Given the description of an element on the screen output the (x, y) to click on. 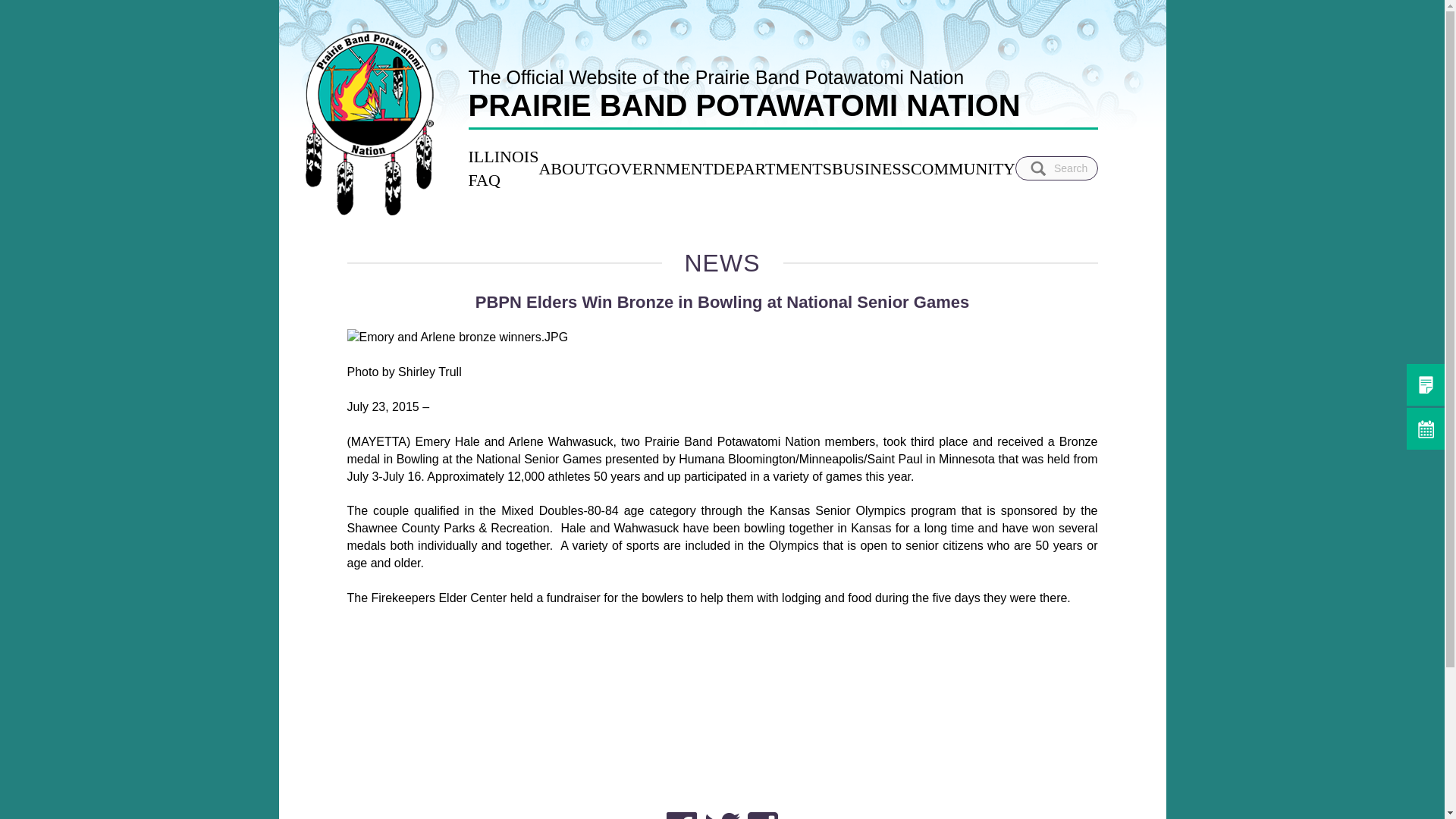
Search (1038, 168)
